Given the description of an element on the screen output the (x, y) to click on. 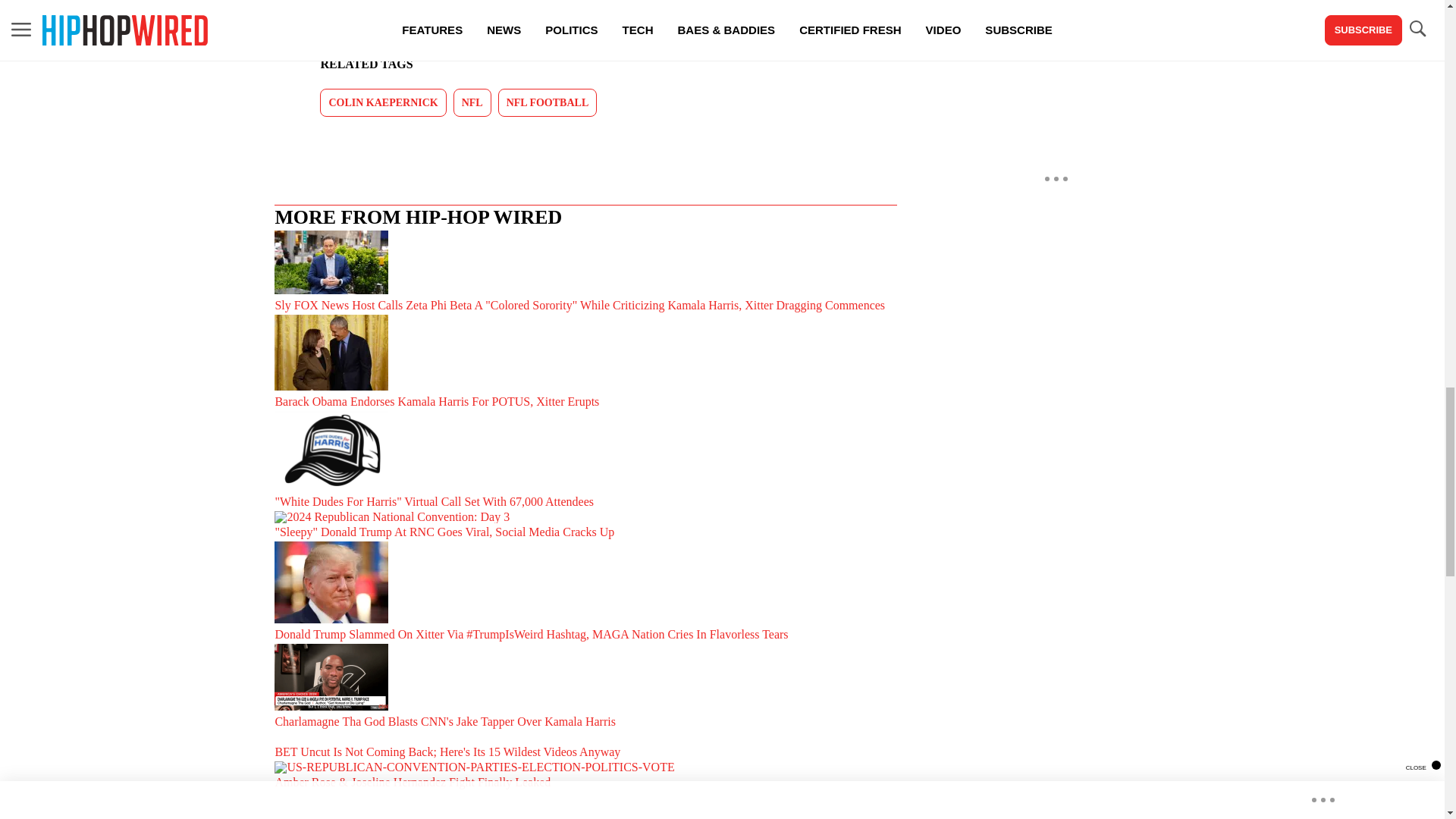
COLIN KAEPERNICK (382, 102)
NFL (472, 102)
Barack Obama Endorses Kamala Harris For POTUS, Xitter Erupts (585, 362)
NFL FOOTBALL (546, 102)
